Given the description of an element on the screen output the (x, y) to click on. 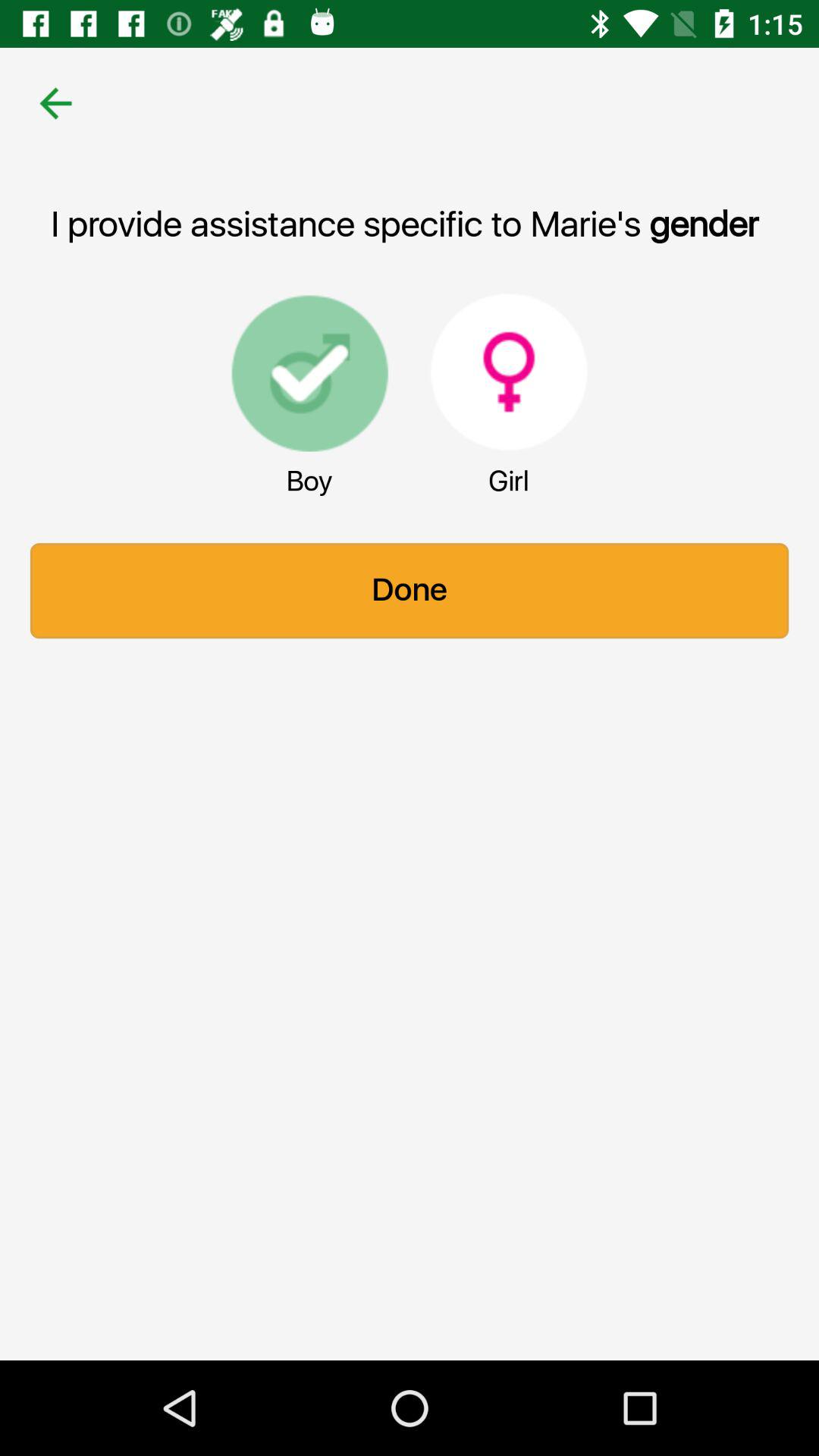
launch item above the boy icon (309, 371)
